Given the description of an element on the screen output the (x, y) to click on. 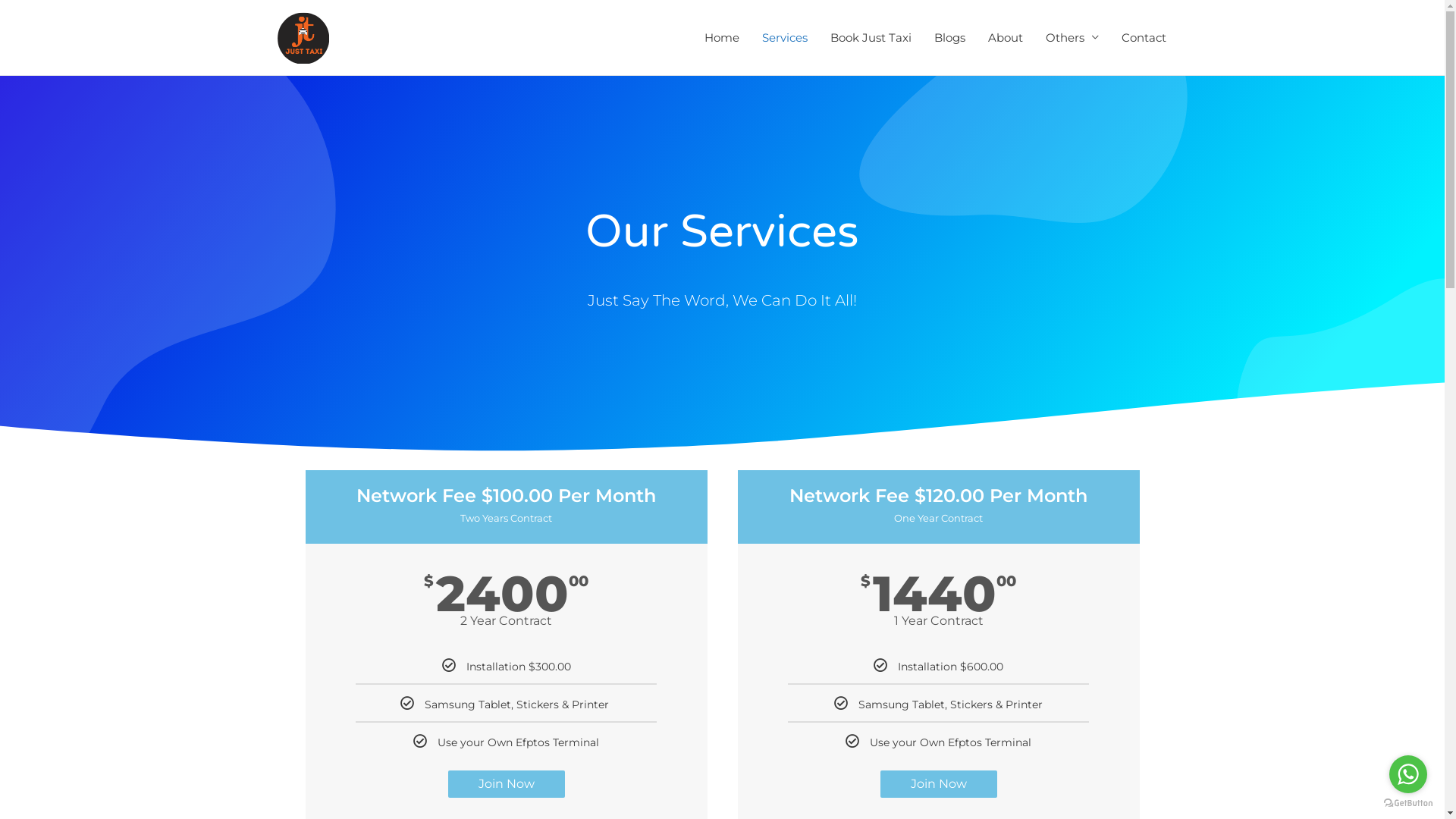
Home Element type: text (721, 37)
Join Now Element type: text (505, 783)
Blogs Element type: text (948, 37)
Services Element type: text (784, 37)
Contact Element type: text (1143, 37)
Join Now Element type: text (937, 783)
About Element type: text (1005, 37)
Book Just Taxi Element type: text (870, 37)
Others Element type: text (1072, 37)
